Given the description of an element on the screen output the (x, y) to click on. 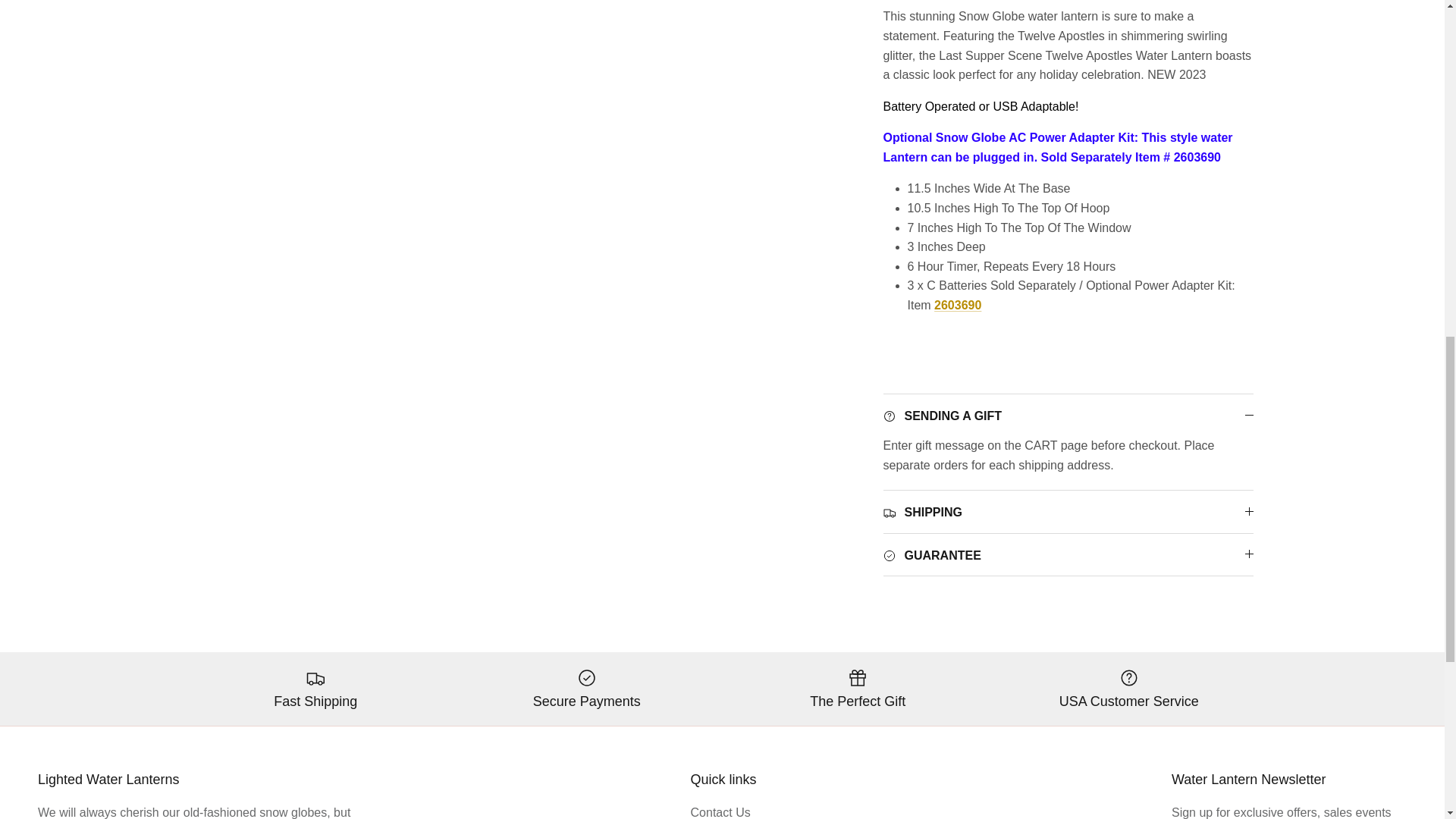
Water Lantern USB Power Adapter Kit (957, 305)
